Given the description of an element on the screen output the (x, y) to click on. 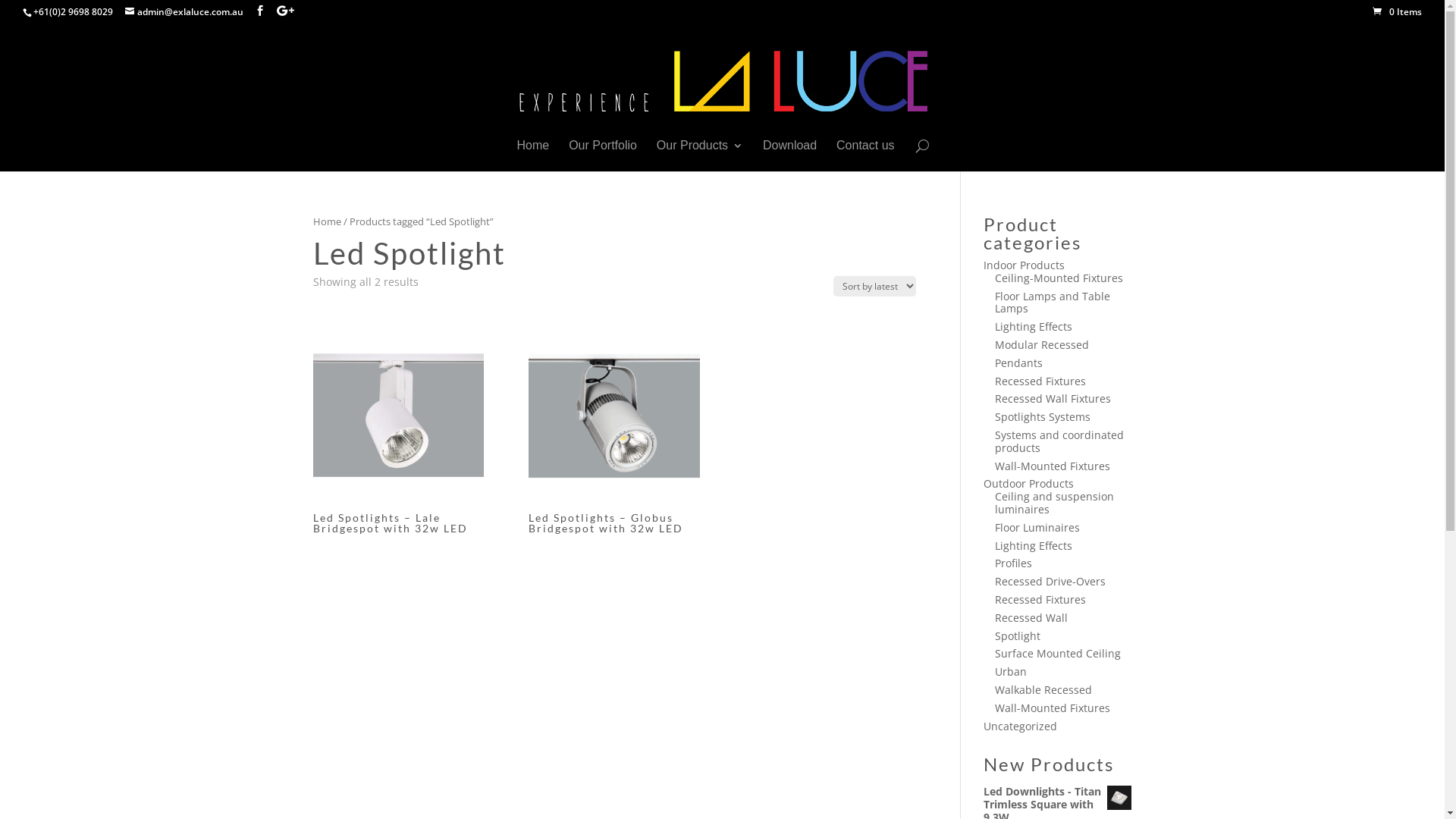
Recessed Drive-Overs Element type: text (1049, 581)
Uncategorized Element type: text (1020, 725)
Home Element type: text (533, 155)
Urban Element type: text (1010, 671)
Spotlight Element type: text (1017, 635)
Ceiling-Mounted Fixtures Element type: text (1058, 277)
Ceiling and suspension luminaires Element type: text (1053, 502)
Wall-Mounted Fixtures Element type: text (1052, 465)
0 Items Element type: text (1396, 11)
Lighting Effects Element type: text (1033, 326)
Surface Mounted Ceiling Element type: text (1057, 653)
Recessed Fixtures Element type: text (1039, 599)
Systems and coordinated products Element type: text (1058, 441)
Spotlights Systems Element type: text (1042, 416)
Wall-Mounted Fixtures Element type: text (1052, 707)
admin@exlaluce.com.au Element type: text (184, 11)
Indoor Products Element type: text (1023, 264)
Home Element type: text (326, 221)
Our Portfolio Element type: text (602, 155)
Our Products Element type: text (699, 155)
Recessed Wall Element type: text (1030, 617)
Floor Luminaires Element type: text (1036, 527)
Walkable Recessed Element type: text (1043, 689)
Lighting Effects Element type: text (1033, 545)
Download Element type: text (789, 155)
Floor Lamps and Table Lamps Element type: text (1052, 302)
Contact us Element type: text (865, 155)
Modular Recessed Element type: text (1041, 344)
Pendants Element type: text (1018, 362)
Recessed Fixtures Element type: text (1039, 380)
Outdoor Products Element type: text (1028, 483)
Profiles Element type: text (1013, 562)
Recessed Wall Fixtures Element type: text (1052, 398)
